Given the description of an element on the screen output the (x, y) to click on. 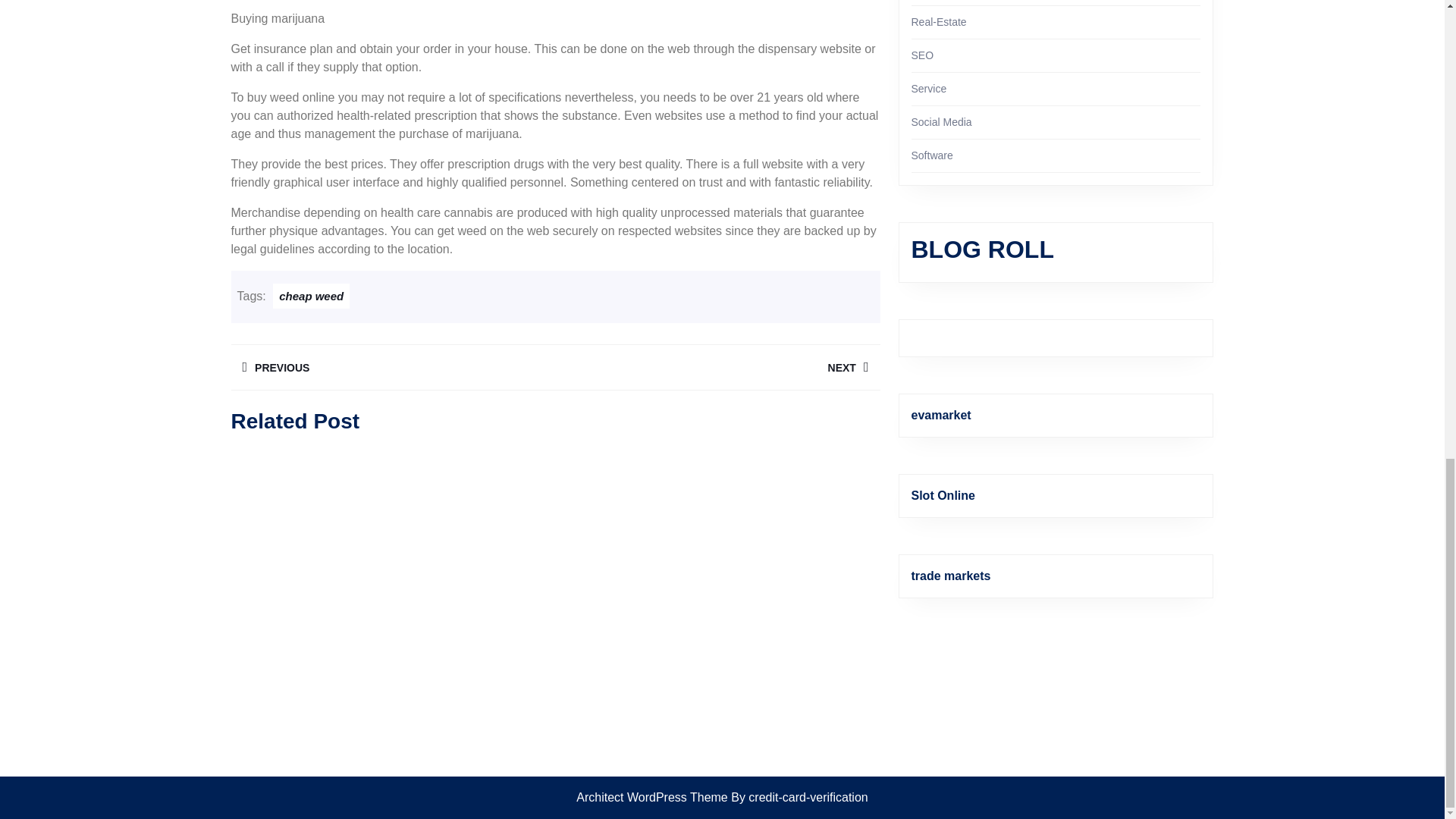
cheap weed (716, 366)
Real-Estate (311, 295)
